Given the description of an element on the screen output the (x, y) to click on. 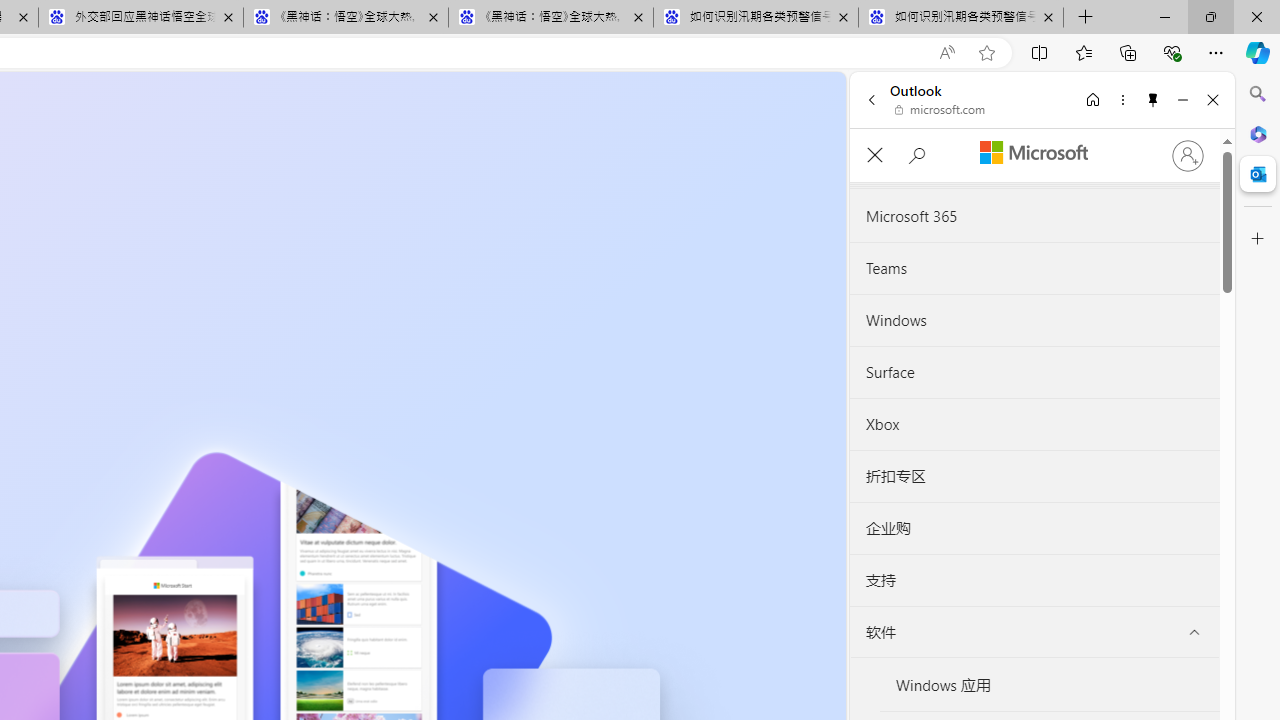
Customize (1258, 239)
Teams (1034, 268)
Close All Microsoft list (874, 155)
